Given the description of an element on the screen output the (x, y) to click on. 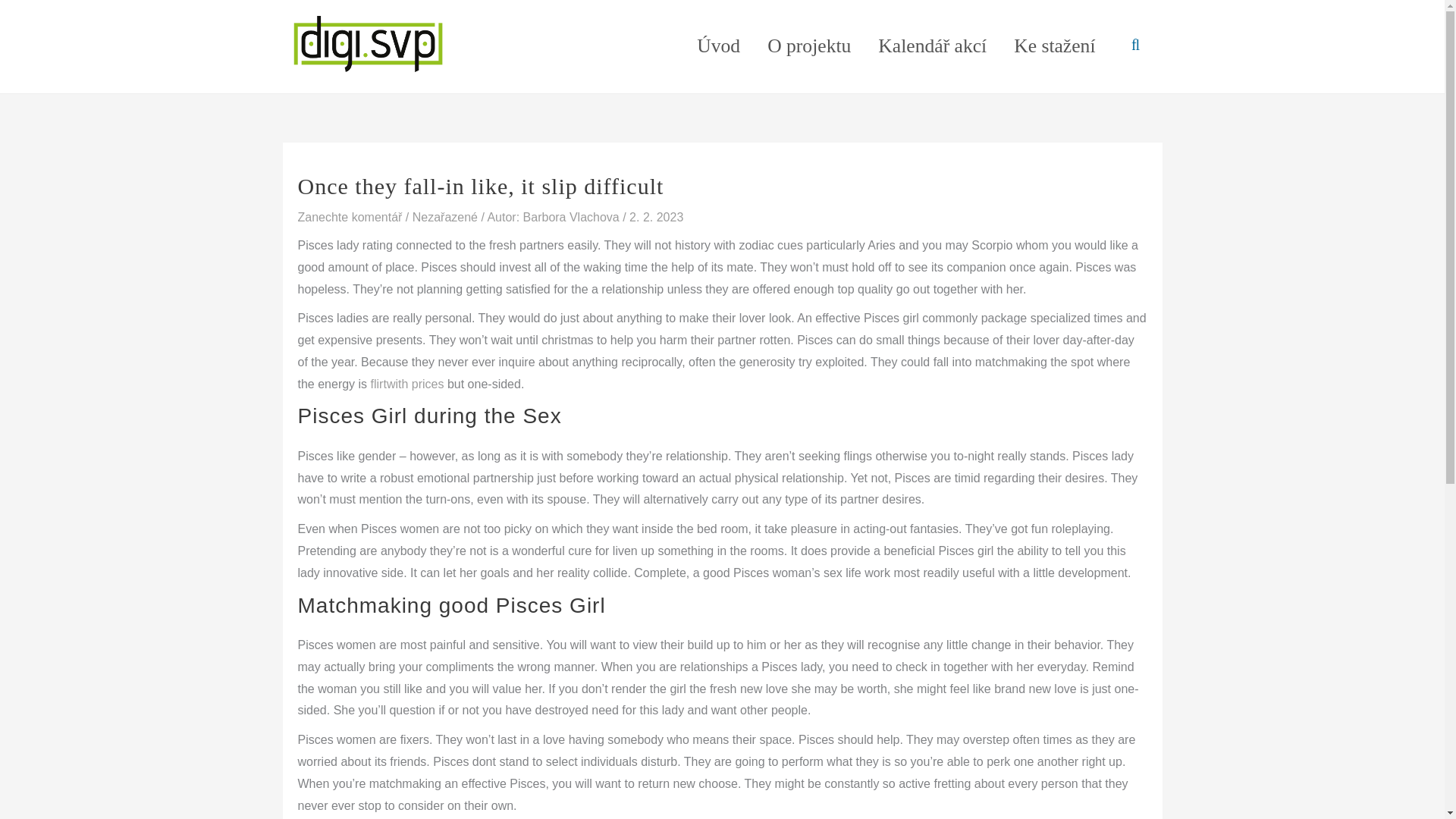
Barbora Vlachova (572, 216)
View all posts by Barbora Vlachova (572, 216)
flirtwith prices (407, 383)
O projektu (809, 46)
